Given the description of an element on the screen output the (x, y) to click on. 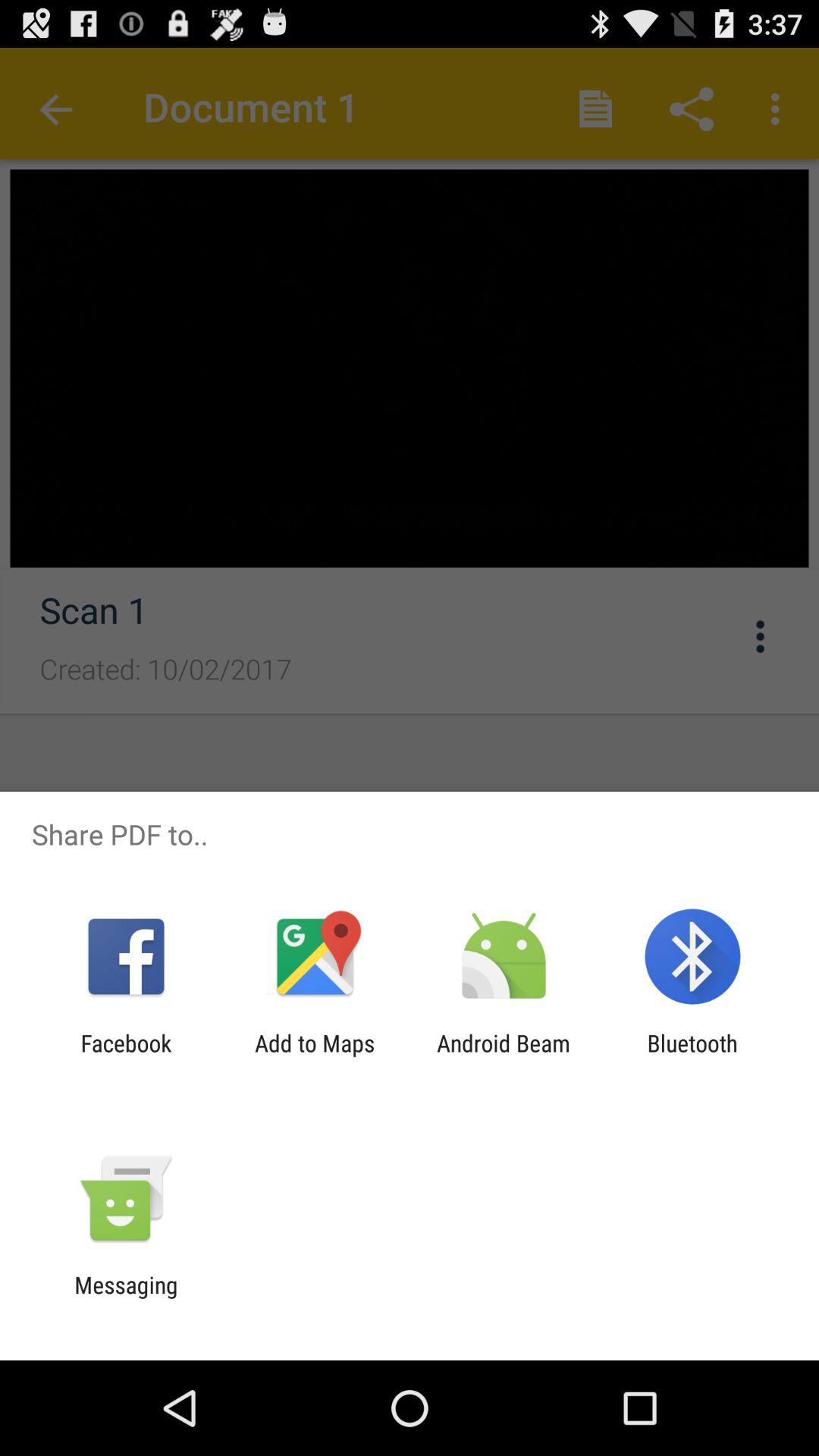
flip until the add to maps (314, 1056)
